Given the description of an element on the screen output the (x, y) to click on. 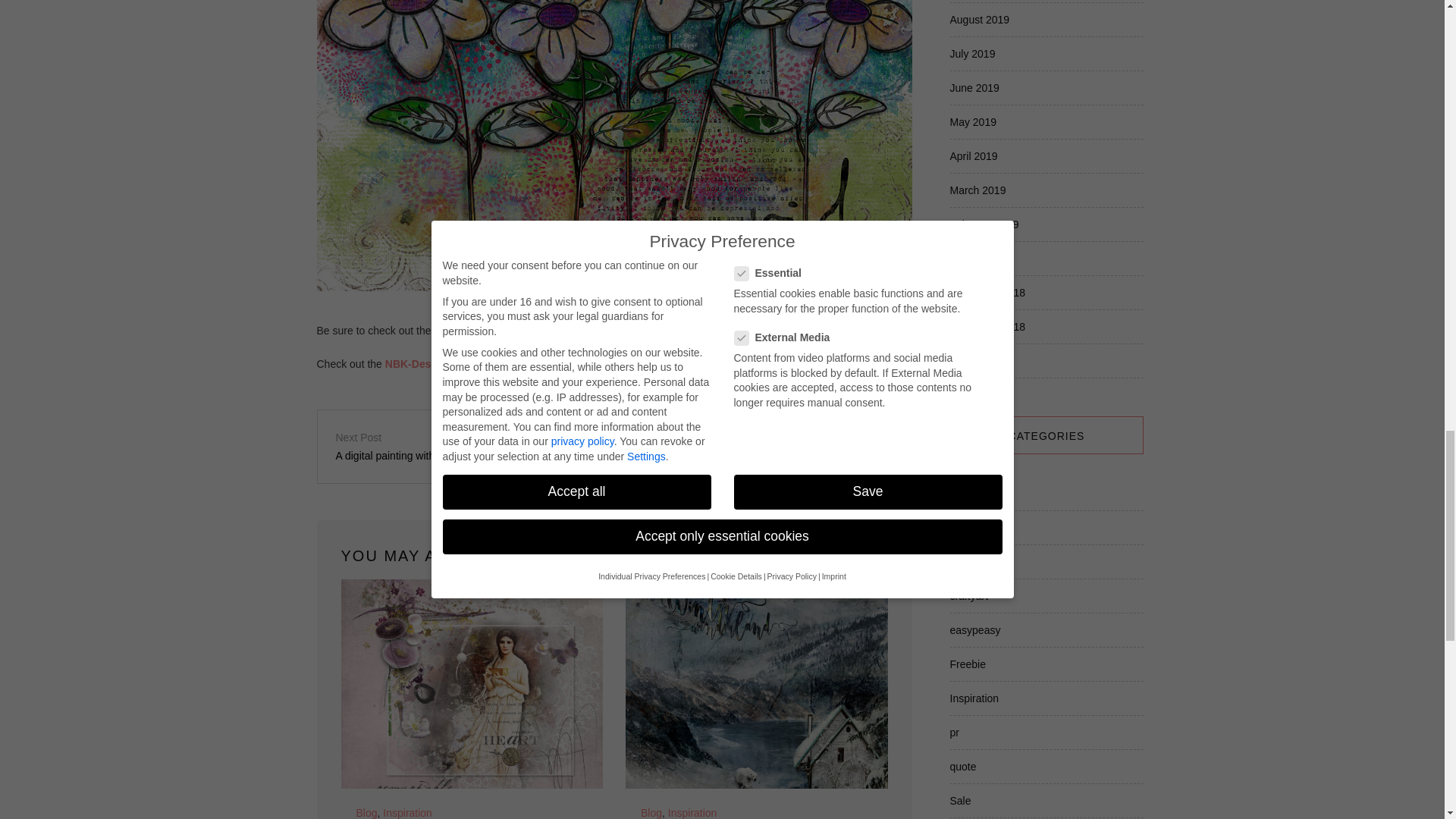
The Lilypad (575, 330)
NBK Design Gallery (483, 330)
